Given the description of an element on the screen output the (x, y) to click on. 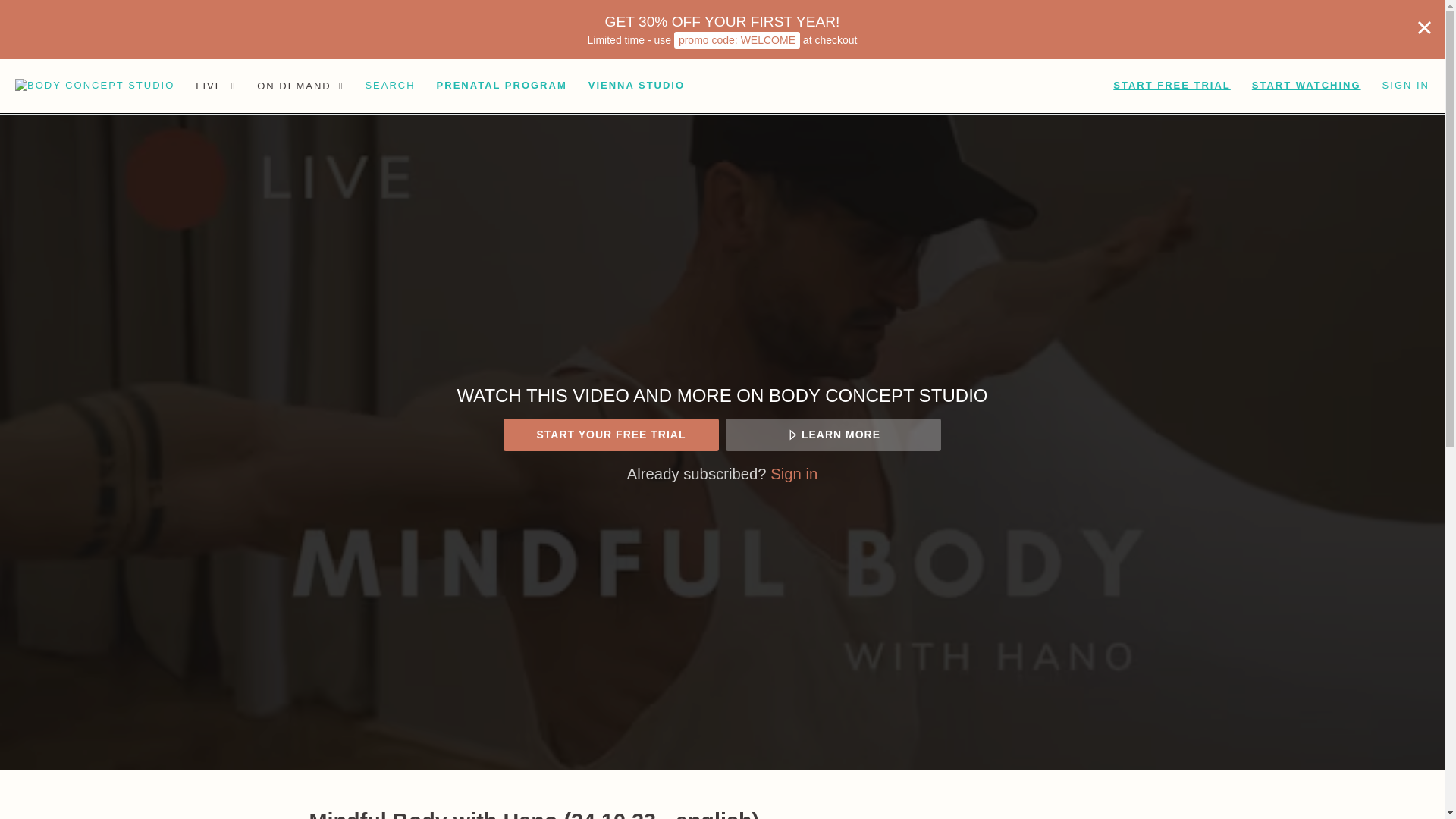
Sign in (793, 474)
VIENNA STUDIO (636, 85)
LEARN MORE (832, 434)
PRENATAL PROGRAM (502, 85)
SIGN IN (1405, 85)
SEARCH (389, 85)
START FREE TRIAL (1171, 85)
LIVE (215, 85)
START WATCHING (1306, 85)
Skip to main content (48, 7)
START YOUR FREE TRIAL (610, 434)
ON DEMAND (299, 85)
